Given the description of an element on the screen output the (x, y) to click on. 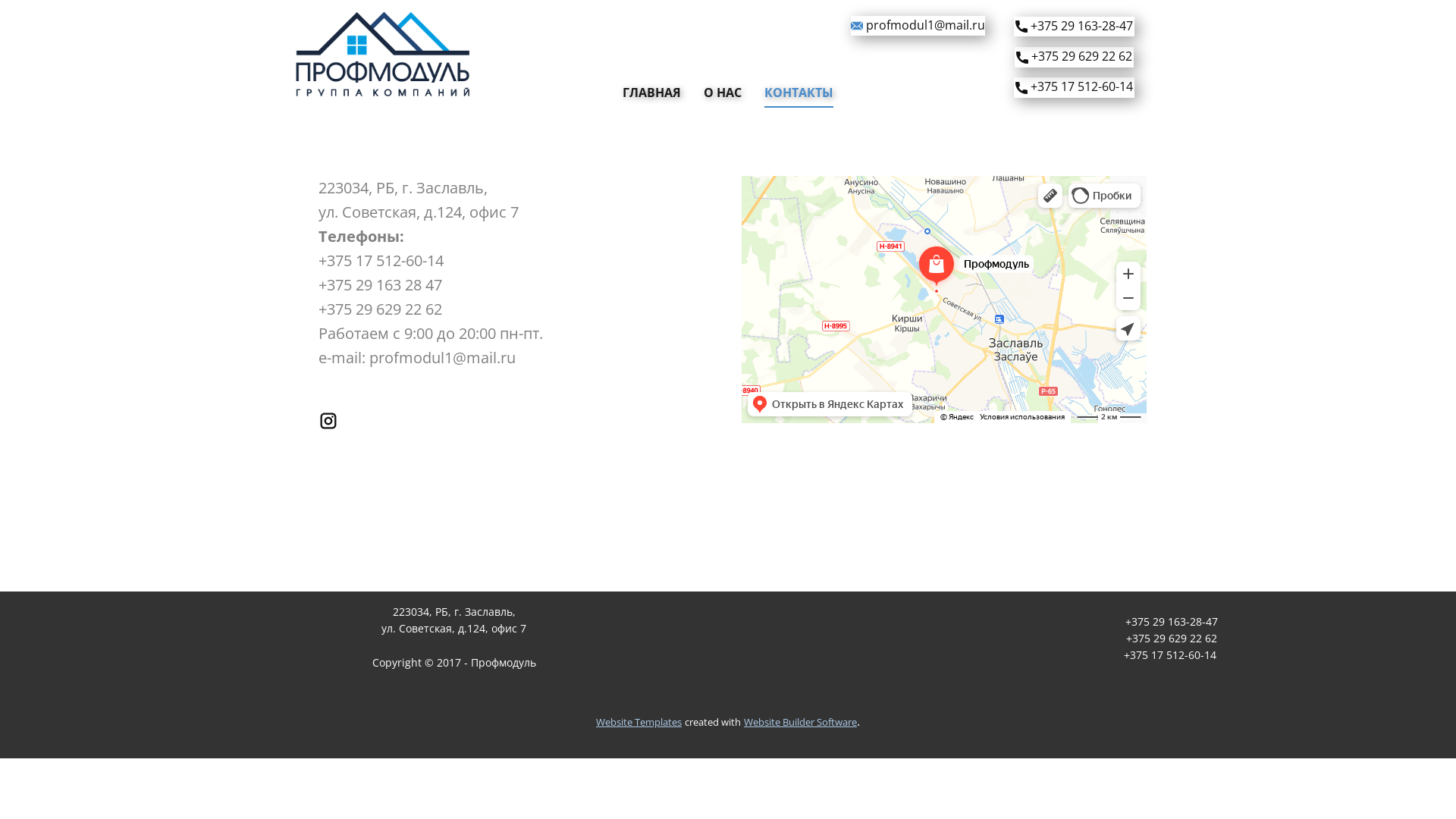
 +375 17 512-60-14 Element type: text (1073, 87)
 +375 29 163-28-47 Element type: text (1073, 26)
 profmodul1@mail.ru Element type: text (917, 25)
Website Templates Element type: text (638, 721)
Website Builder Software Element type: text (799, 721)
 +375 29 629 22 62 Element type: text (1073, 57)
